Given the description of an element on the screen output the (x, y) to click on. 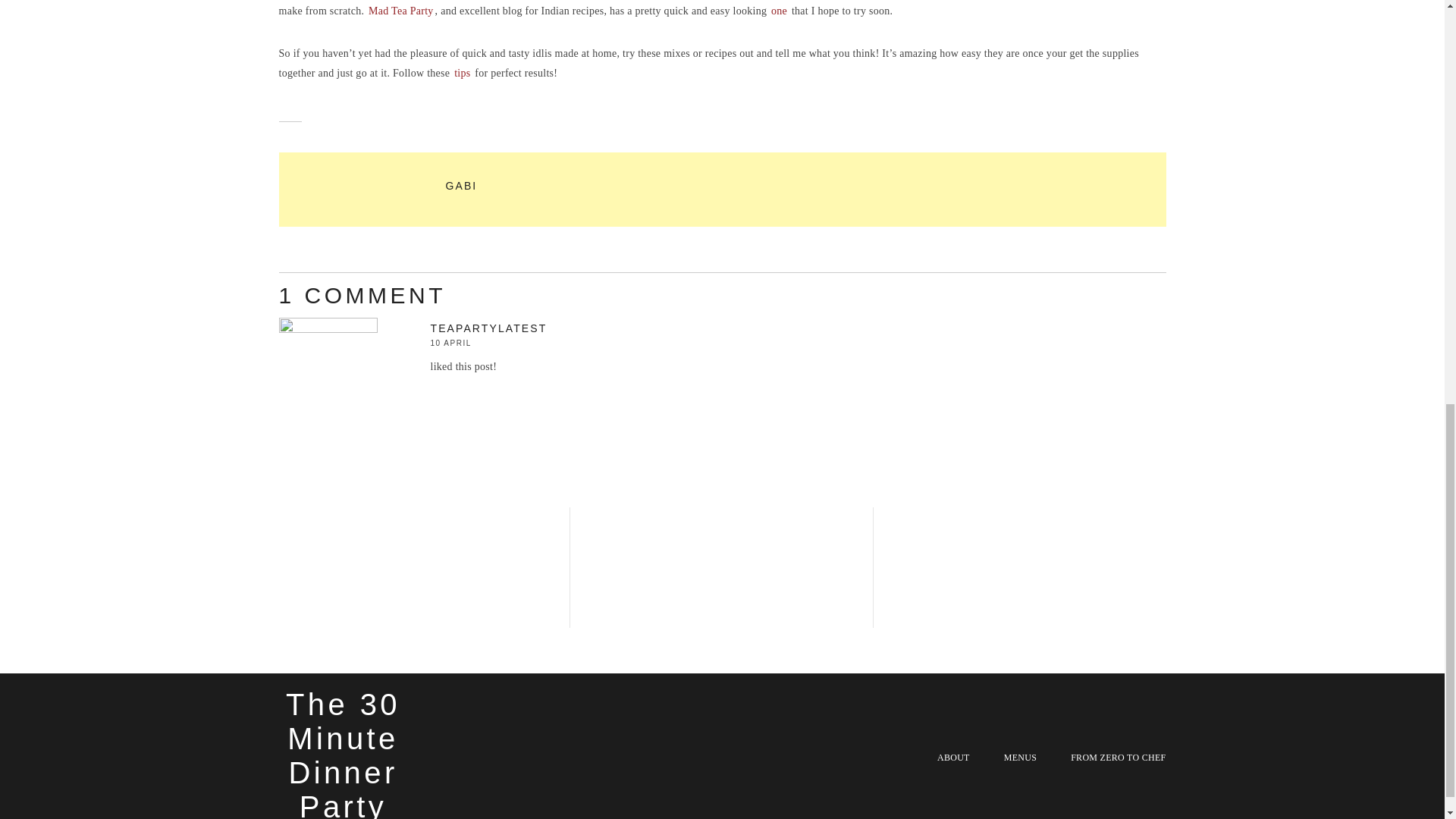
April 10, 2010 7:26 (488, 342)
Posts by Gabi (461, 185)
